Given the description of an element on the screen output the (x, y) to click on. 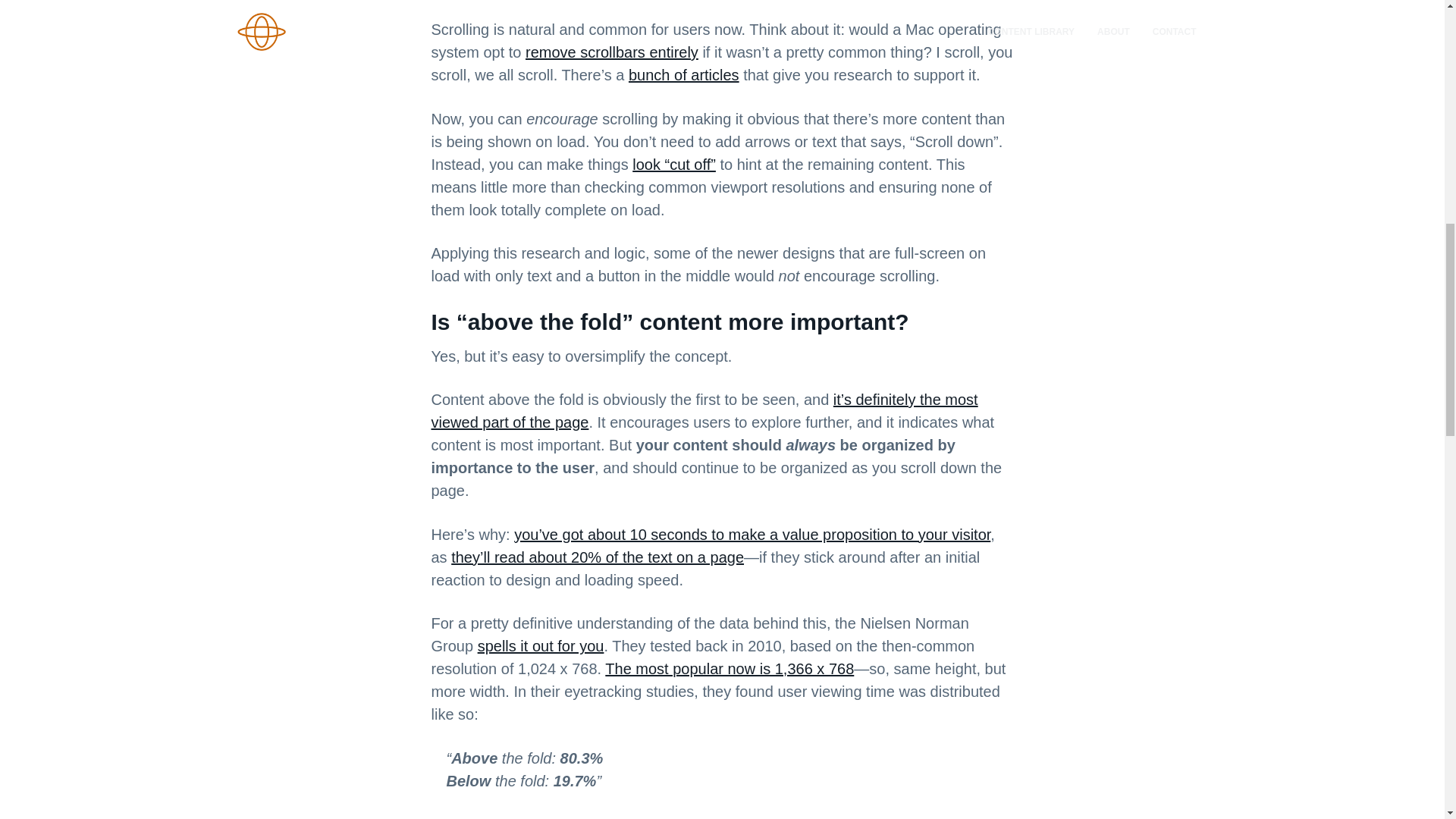
remove scrollbars entirely (611, 52)
bunch of articles (683, 74)
The most popular now is 1,366 x 768 (729, 668)
spells it out for you (540, 646)
